Given the description of an element on the screen output the (x, y) to click on. 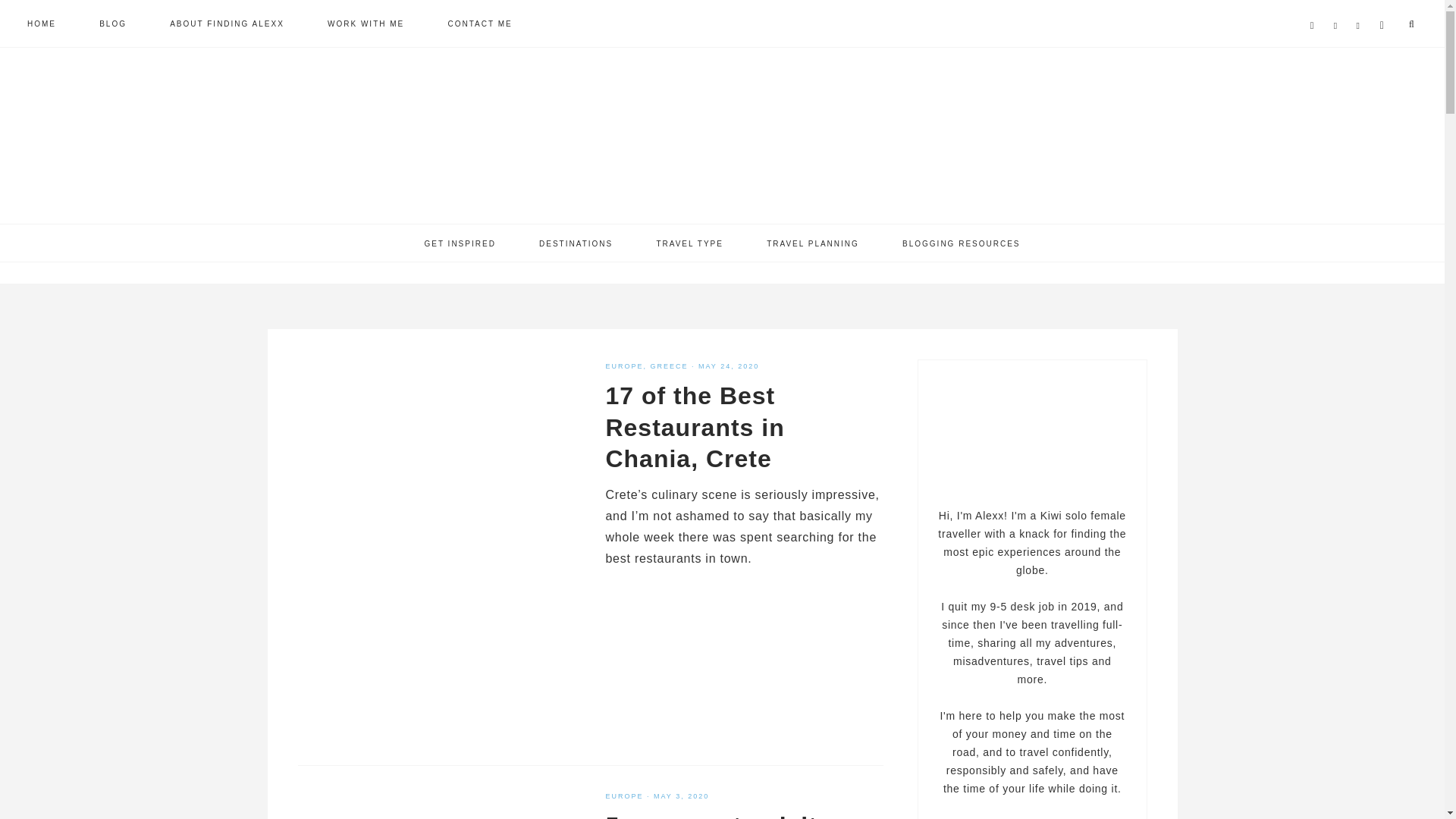
HOME (41, 22)
ABOUT FINDING ALEXX (226, 22)
TRAVEL TYPE (689, 242)
Finding Alexx (721, 143)
Pinterest (1338, 7)
Email Me (1385, 7)
BLOG (113, 22)
CONTACT ME (479, 22)
BLOGGING RESOURCES (960, 242)
WORK WITH ME (365, 22)
Facebook (1315, 7)
Instagram (1361, 7)
EUROPE (624, 366)
DESTINATIONS (575, 242)
GET INSPIRED (459, 242)
